Given the description of an element on the screen output the (x, y) to click on. 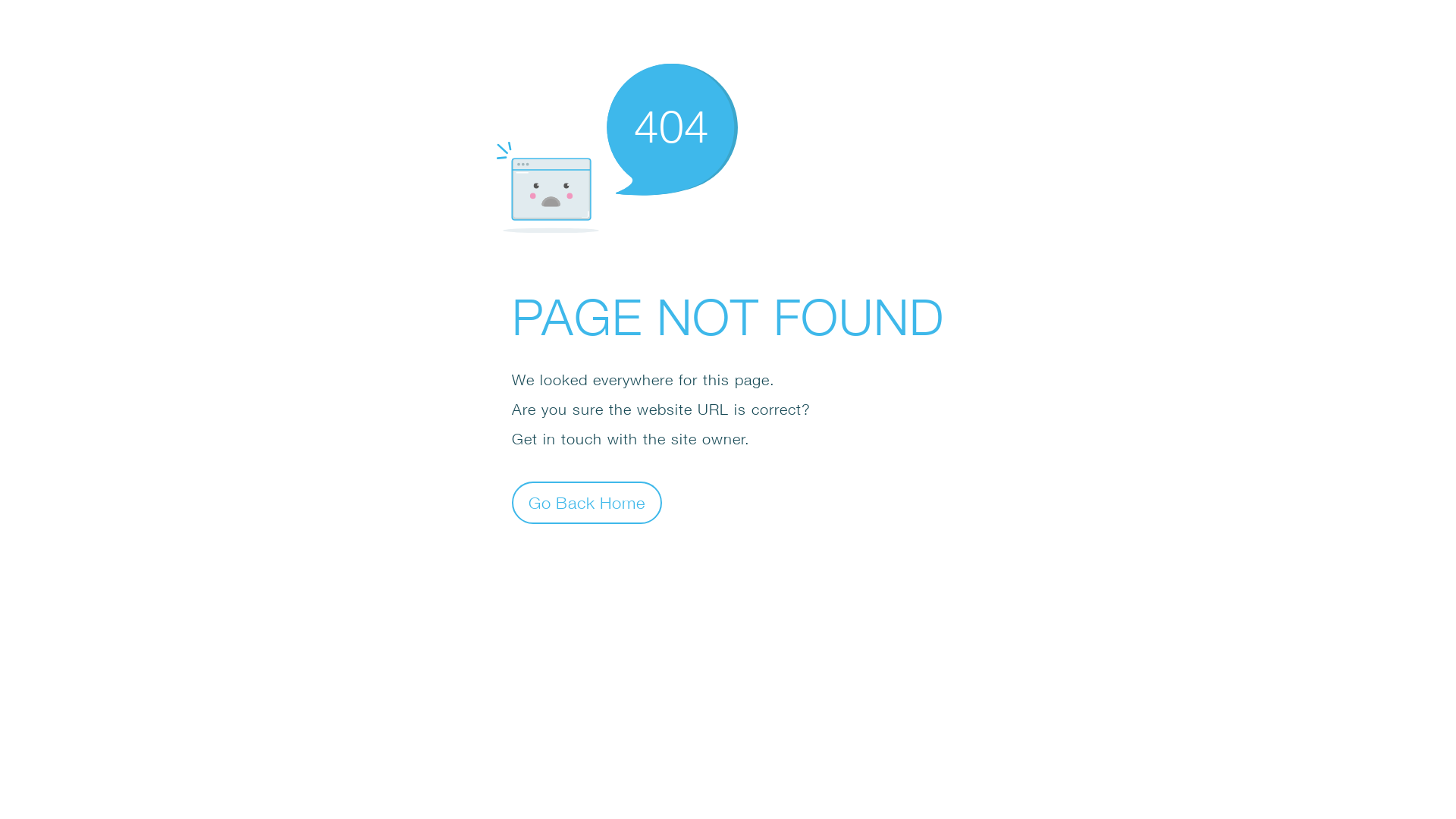
Go Back Home Element type: text (586, 502)
